Given the description of an element on the screen output the (x, y) to click on. 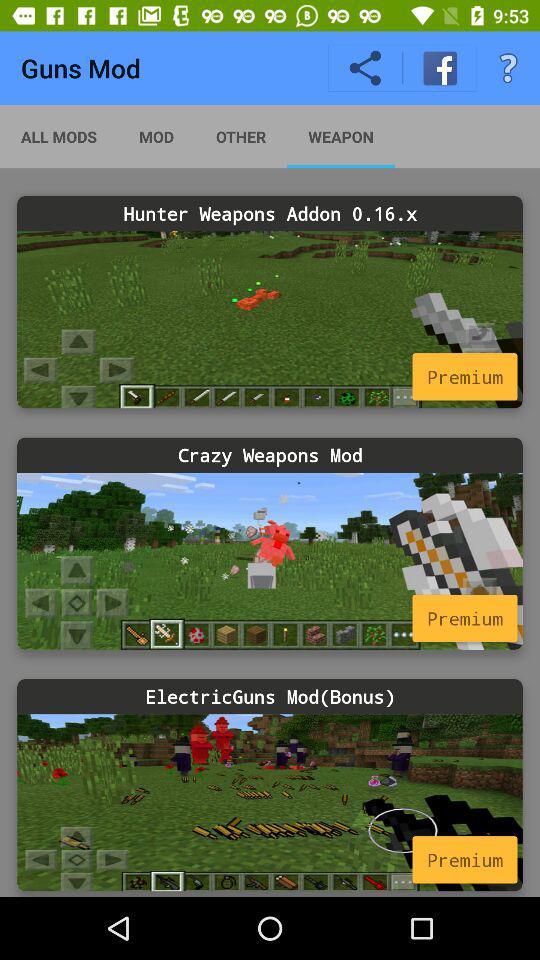
scroll until crazy weapons mod icon (269, 454)
